Given the description of an element on the screen output the (x, y) to click on. 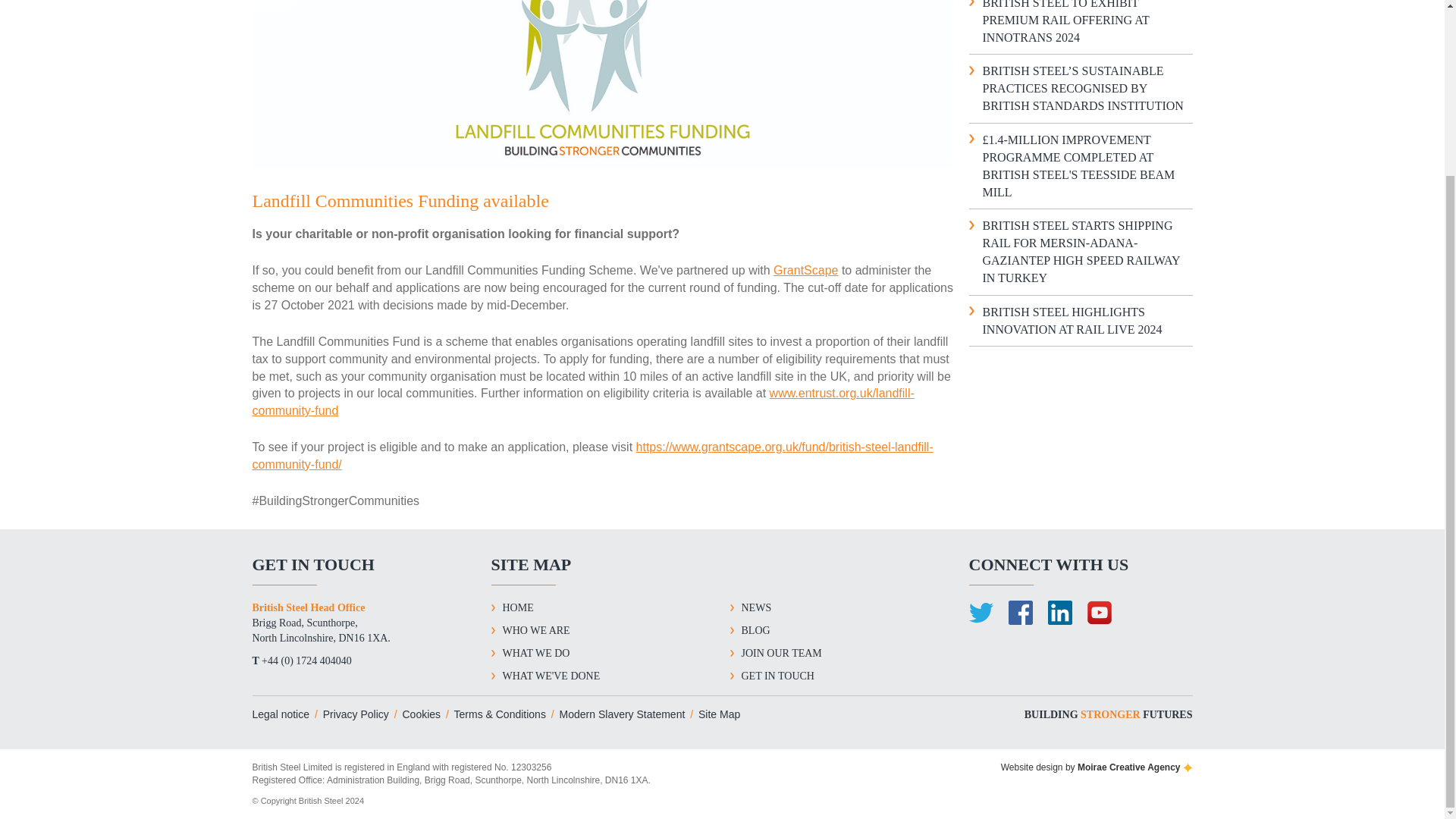
GrantScape (805, 269)
